Given the description of an element on the screen output the (x, y) to click on. 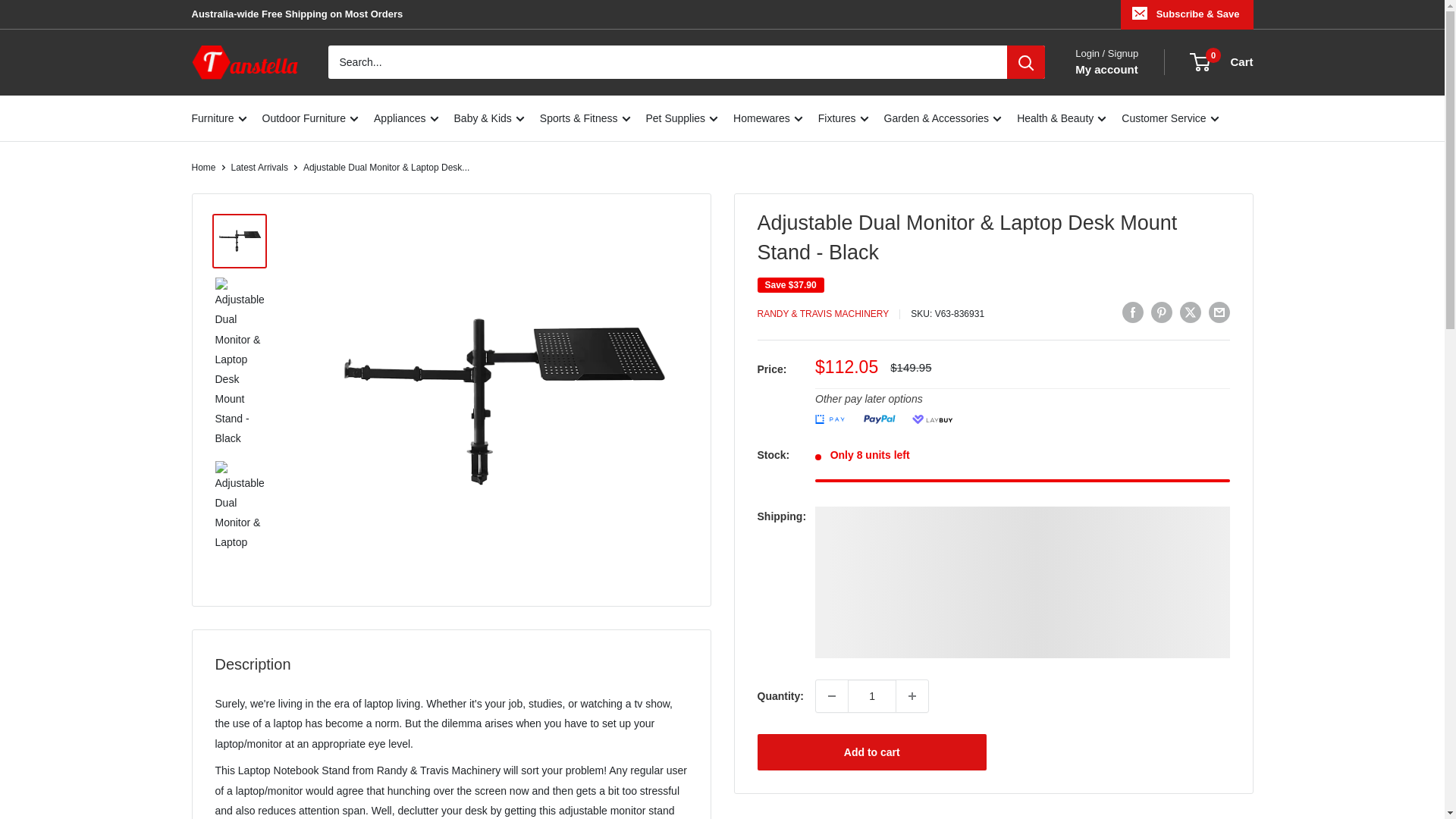
1 (871, 695)
Australia-wide Free Shipping on Most Orders (296, 14)
Increase quantity by 1 (912, 695)
Decrease quantity by 1 (831, 695)
